Given the description of an element on the screen output the (x, y) to click on. 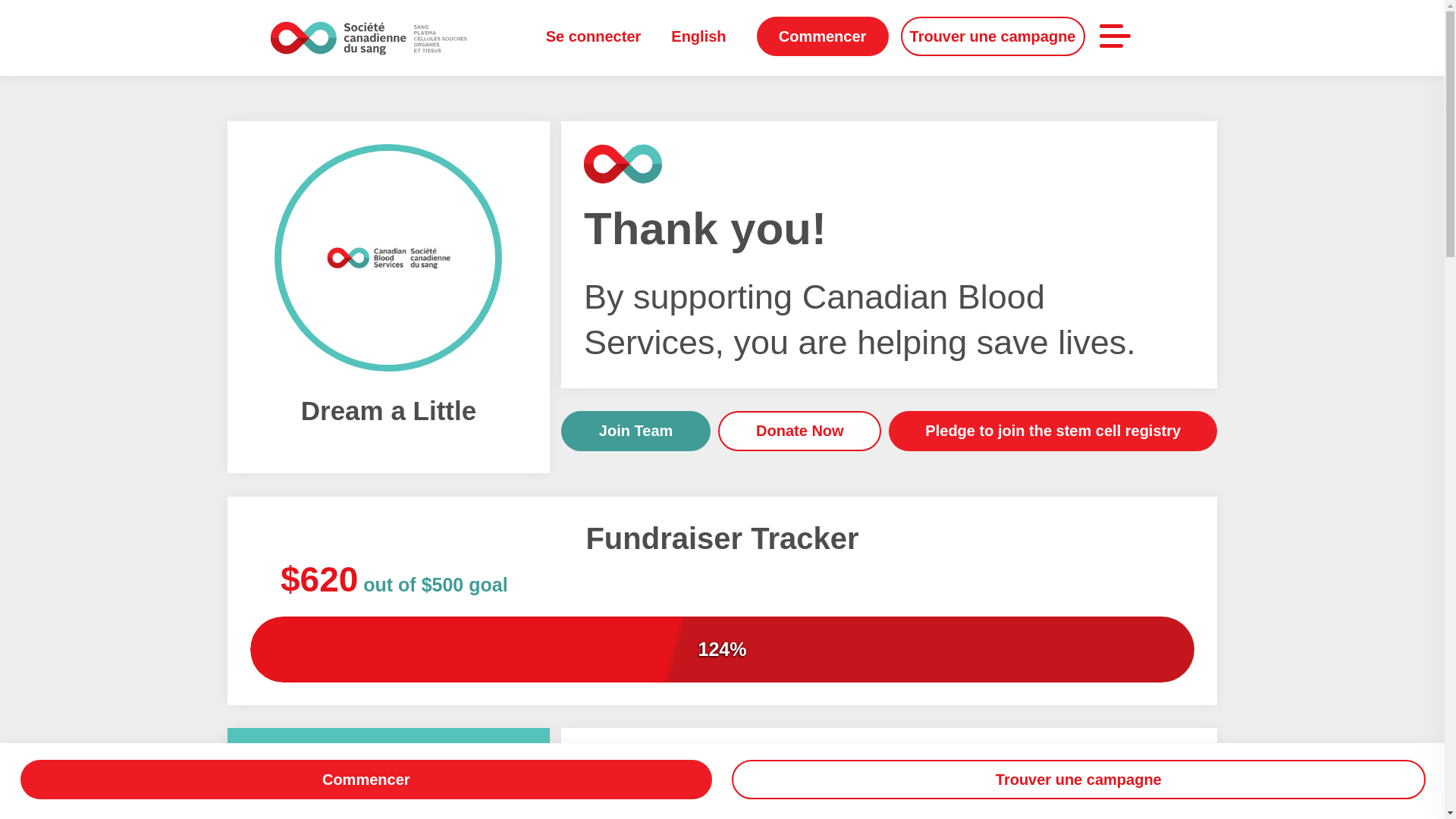
Se connecter (594, 35)
Commencer (822, 36)
Pledge to join the stem cell registry (1052, 430)
Trouver une campagne (992, 36)
Join Team (635, 430)
Donate Now (798, 430)
English (698, 35)
